Given the description of an element on the screen output the (x, y) to click on. 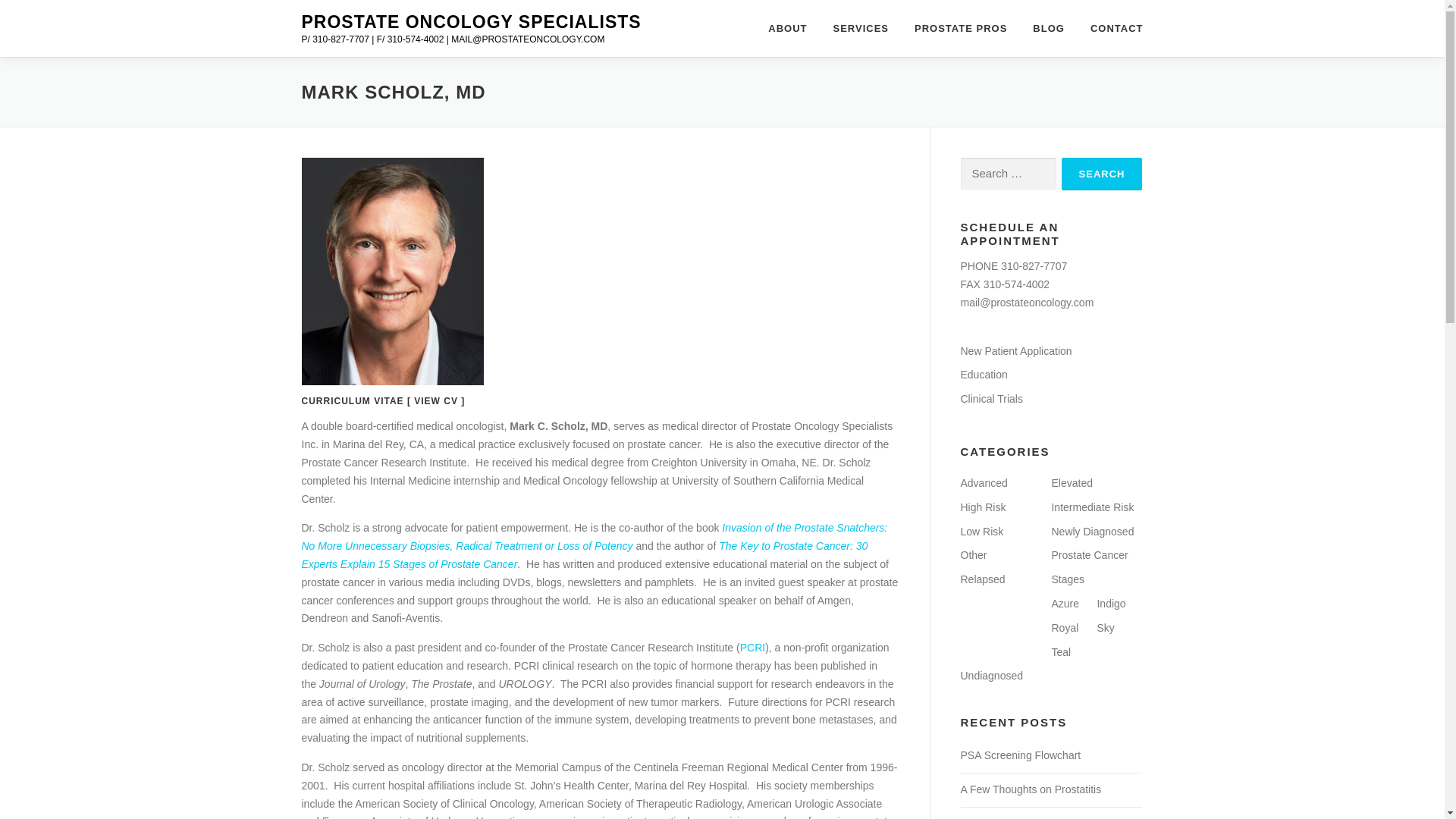
PCRI (752, 647)
New Patient Application (1015, 350)
BLOG (1048, 28)
Search (1101, 174)
Indigo (1110, 603)
Royal (1064, 627)
Azure (1064, 603)
Elevated (1071, 482)
Clinical Trials (990, 398)
Teal (1060, 652)
CV (451, 400)
Relapsed (981, 579)
Search (1101, 174)
Search (1101, 174)
